Given the description of an element on the screen output the (x, y) to click on. 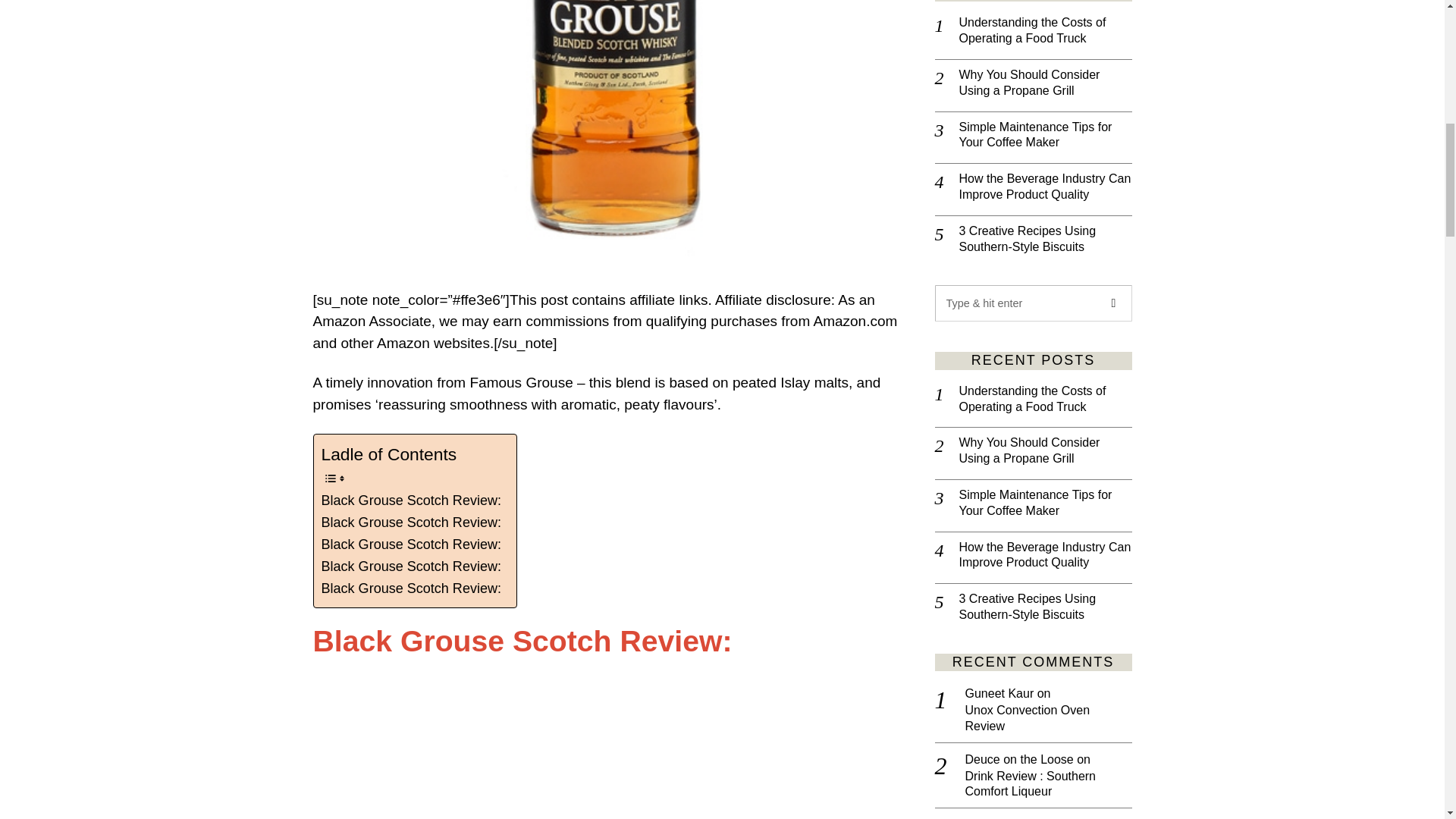
The Famous Grouse Smoky Black Review (611, 748)
Black Grouse Scotch Review: (411, 522)
Black Grouse Scotch Review: (411, 544)
Black Grouse Scotch Review: (411, 544)
Black Grouse Scotch Review: (411, 567)
Black Grouse Scotch Review: (411, 500)
Black Grouse Scotch Review: (522, 640)
Black Grouse Scotch Review: (411, 500)
Black Grouse Scotch Review: (411, 588)
Black Grouse Scotch Review: (411, 567)
Black Grouse Scotch Review: (411, 588)
Black Grouse Scotch Review: (411, 522)
